Given the description of an element on the screen output the (x, y) to click on. 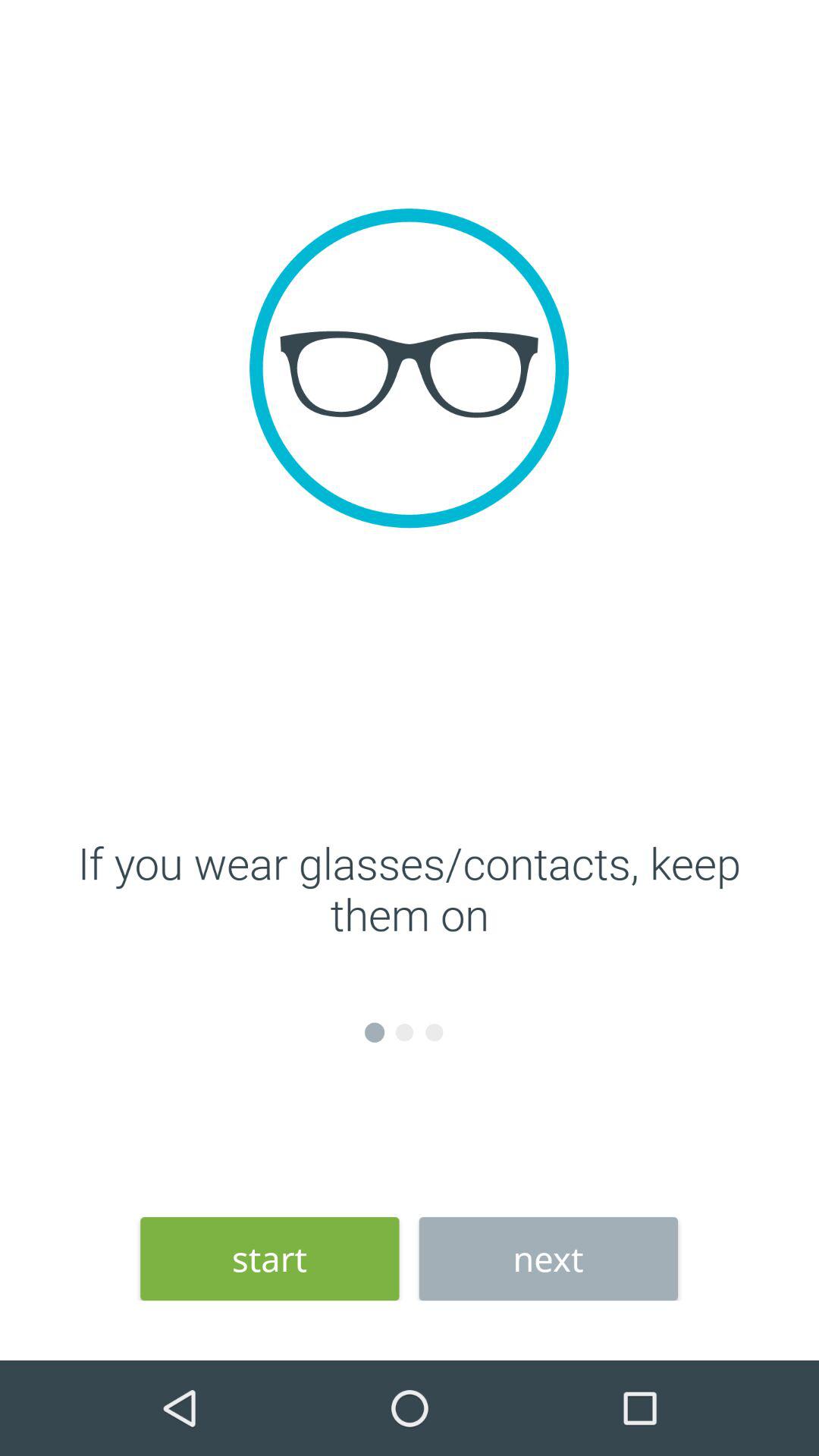
press the item next to next item (269, 1258)
